Given the description of an element on the screen output the (x, y) to click on. 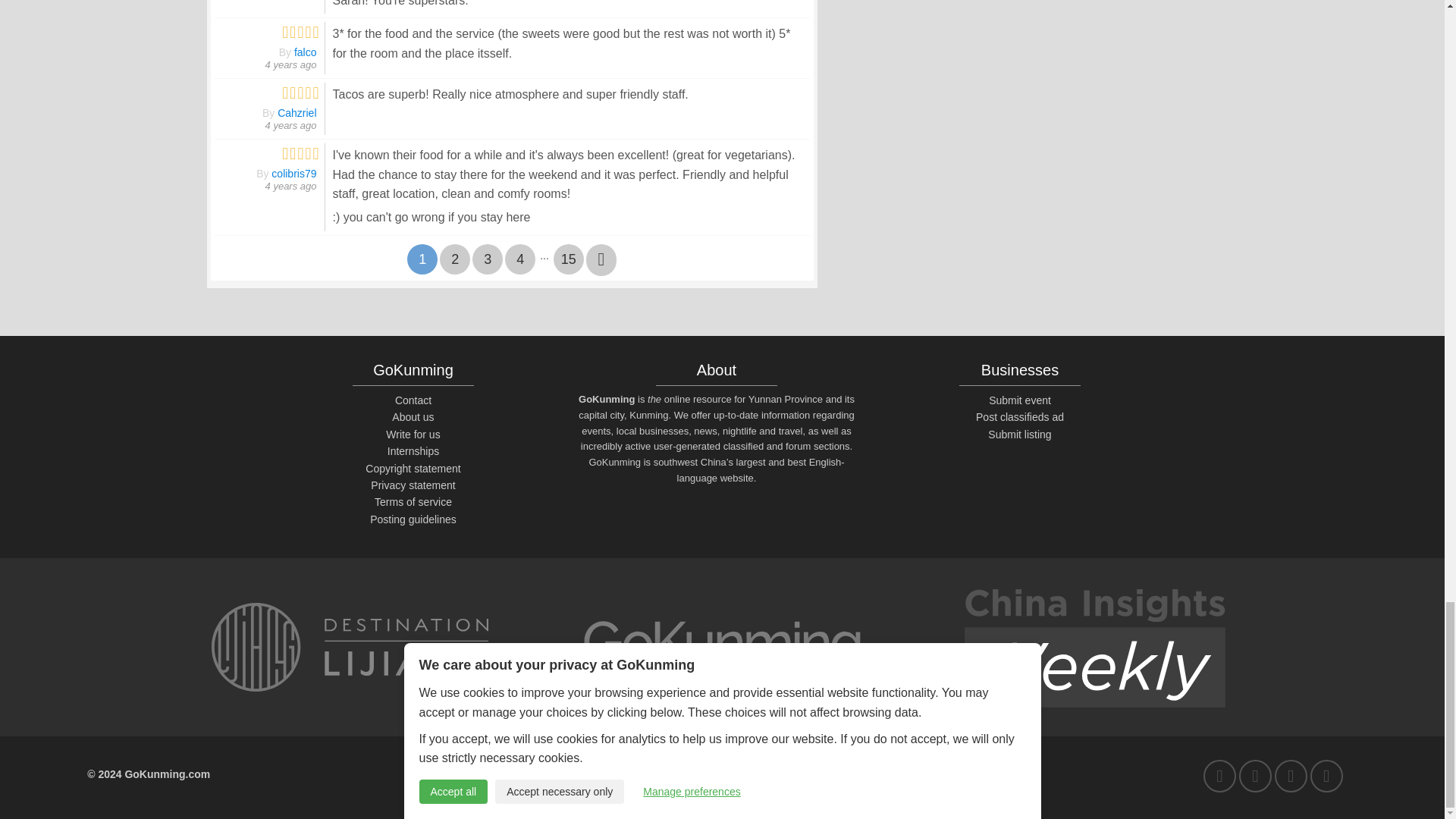
June 16, 2020, 6:06pm (290, 185)
June 30, 2020, 12:12am (290, 64)
June 23, 2020, 1:40pm (290, 125)
